Given the description of an element on the screen output the (x, y) to click on. 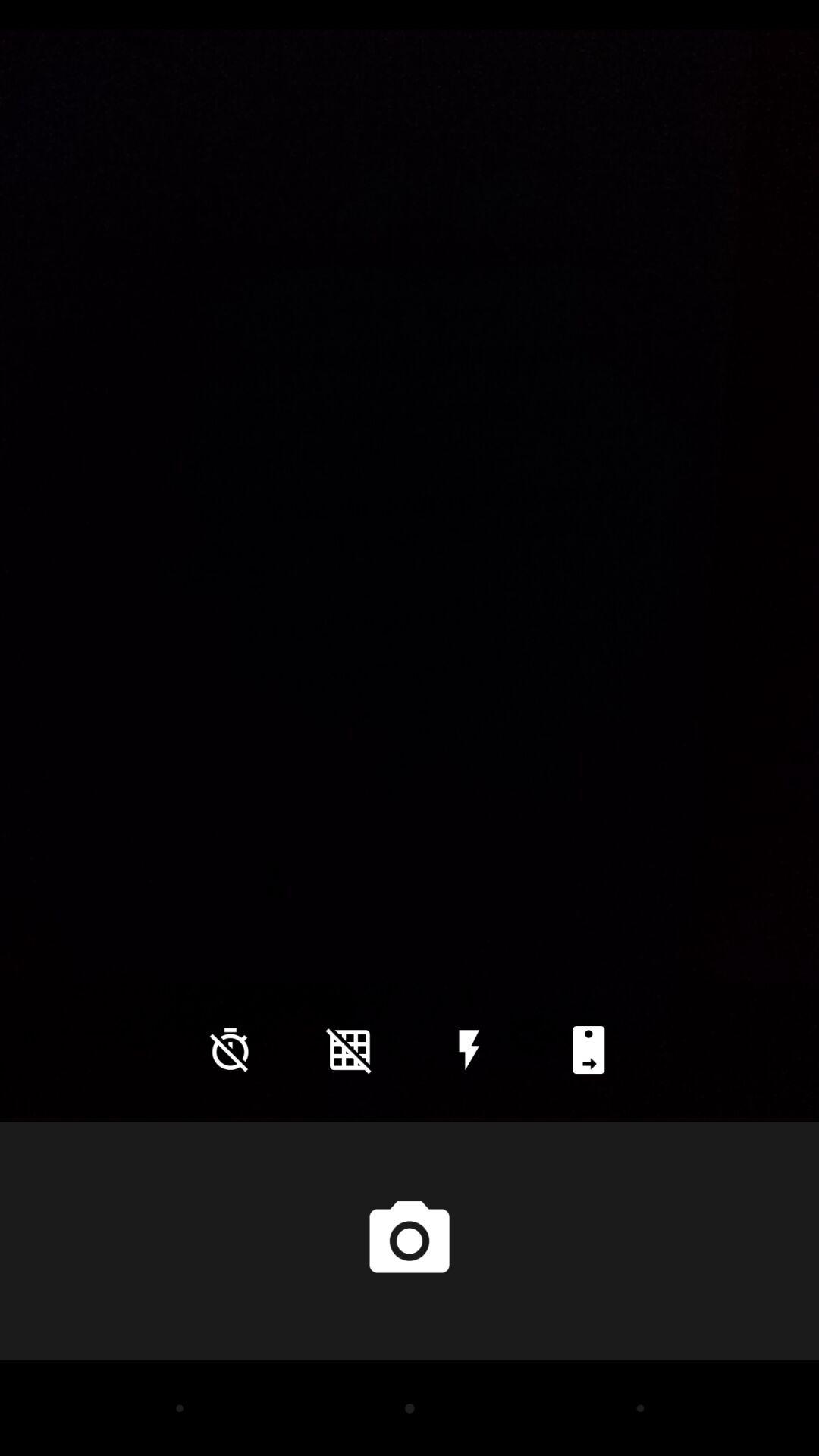
press icon at the bottom left corner (230, 1049)
